Given the description of an element on the screen output the (x, y) to click on. 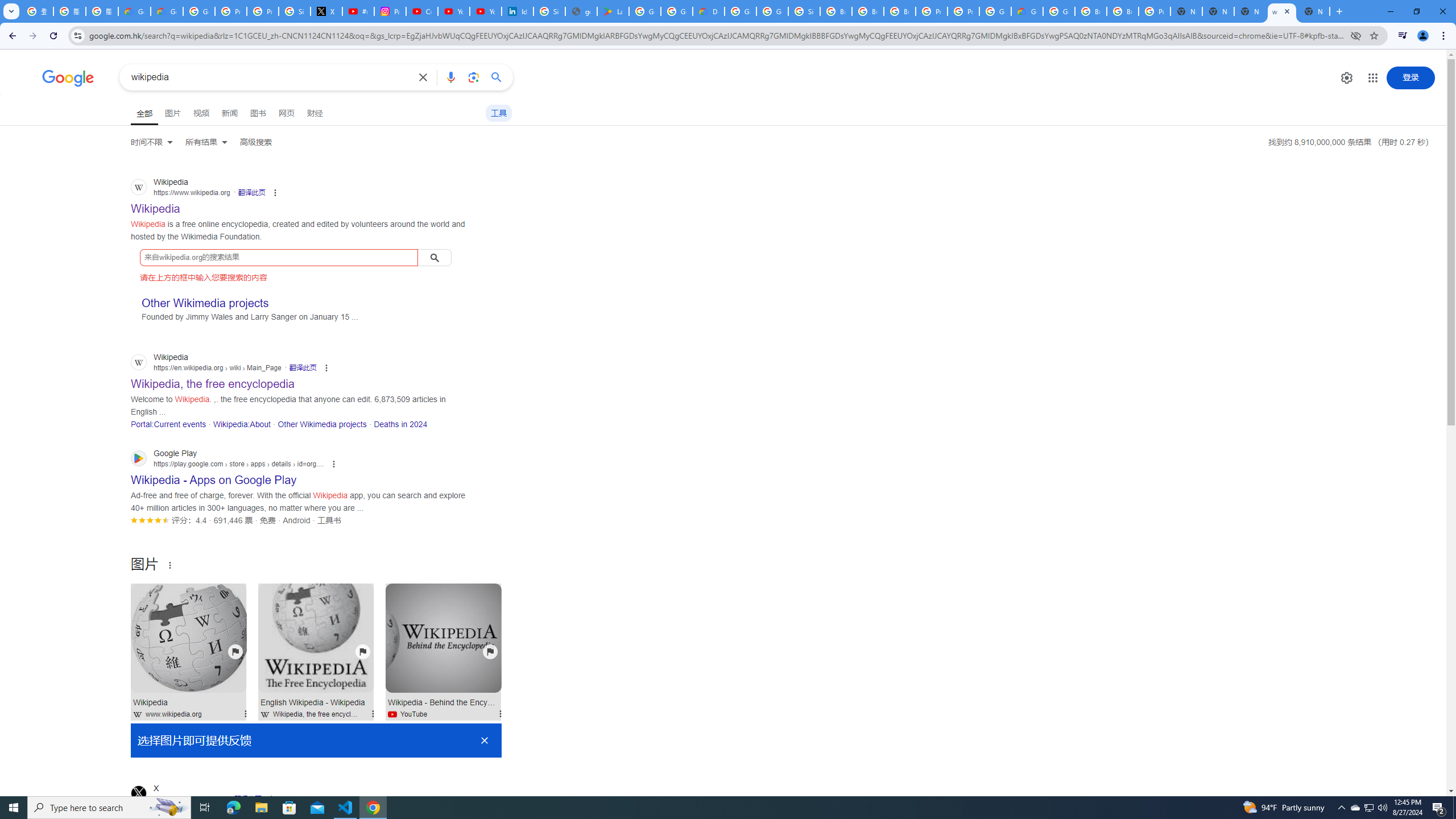
Google Cloud Privacy Notice (166, 11)
Other Wikimedia projects (322, 424)
Deaths in 2024 (401, 424)
Google Cloud Estimate Summary (1027, 11)
